Given the description of an element on the screen output the (x, y) to click on. 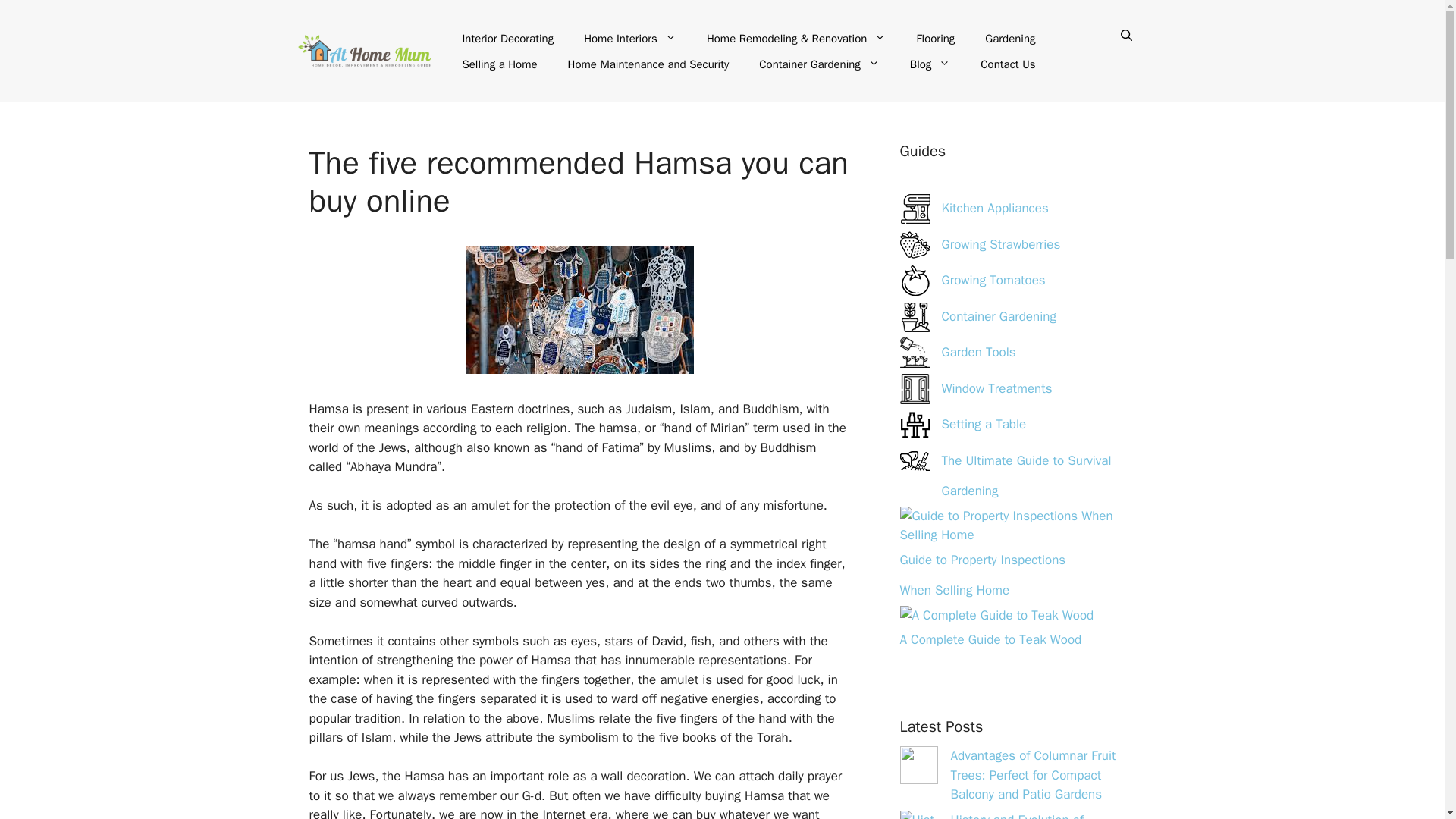
Home Interiors (630, 38)
The Ultimate Guide to Survival Gardening (1027, 474)
Flooring (935, 38)
Gardening (1009, 38)
Container Gardening (819, 63)
The Ultimate Guide to Survival Gardening (914, 460)
A Complete Guide to Teak Wood (990, 639)
Interior Decorating (507, 38)
Guide to Property Inspections When Selling Home (982, 575)
Selling a Home (498, 63)
Guide to Property Inspections When Selling Home (1012, 525)
Home Maintenance and Security (648, 63)
Blog (930, 63)
A Complete Guide to Teak Wood (996, 614)
